Given the description of an element on the screen output the (x, y) to click on. 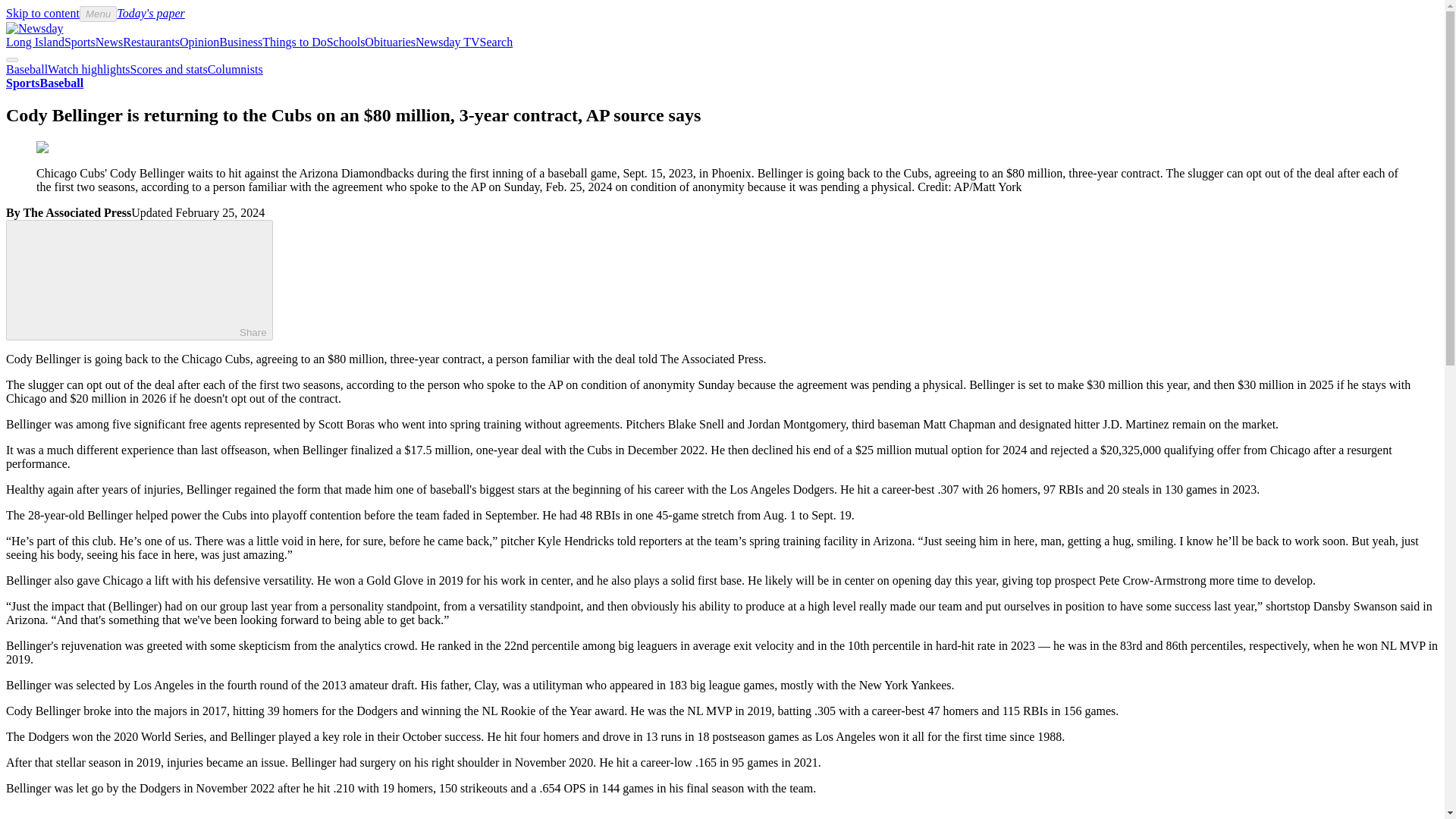
Newsday TV (447, 42)
Restaurants (150, 42)
Schools (345, 42)
Search (496, 42)
Sports (22, 82)
Today's paper (150, 12)
Obituaries (389, 42)
Long Island (34, 42)
Sports (80, 42)
News (109, 42)
Scores and stats (169, 69)
Share (139, 280)
Things to Do (294, 42)
Baseball (26, 69)
Opinion (199, 42)
